Given the description of an element on the screen output the (x, y) to click on. 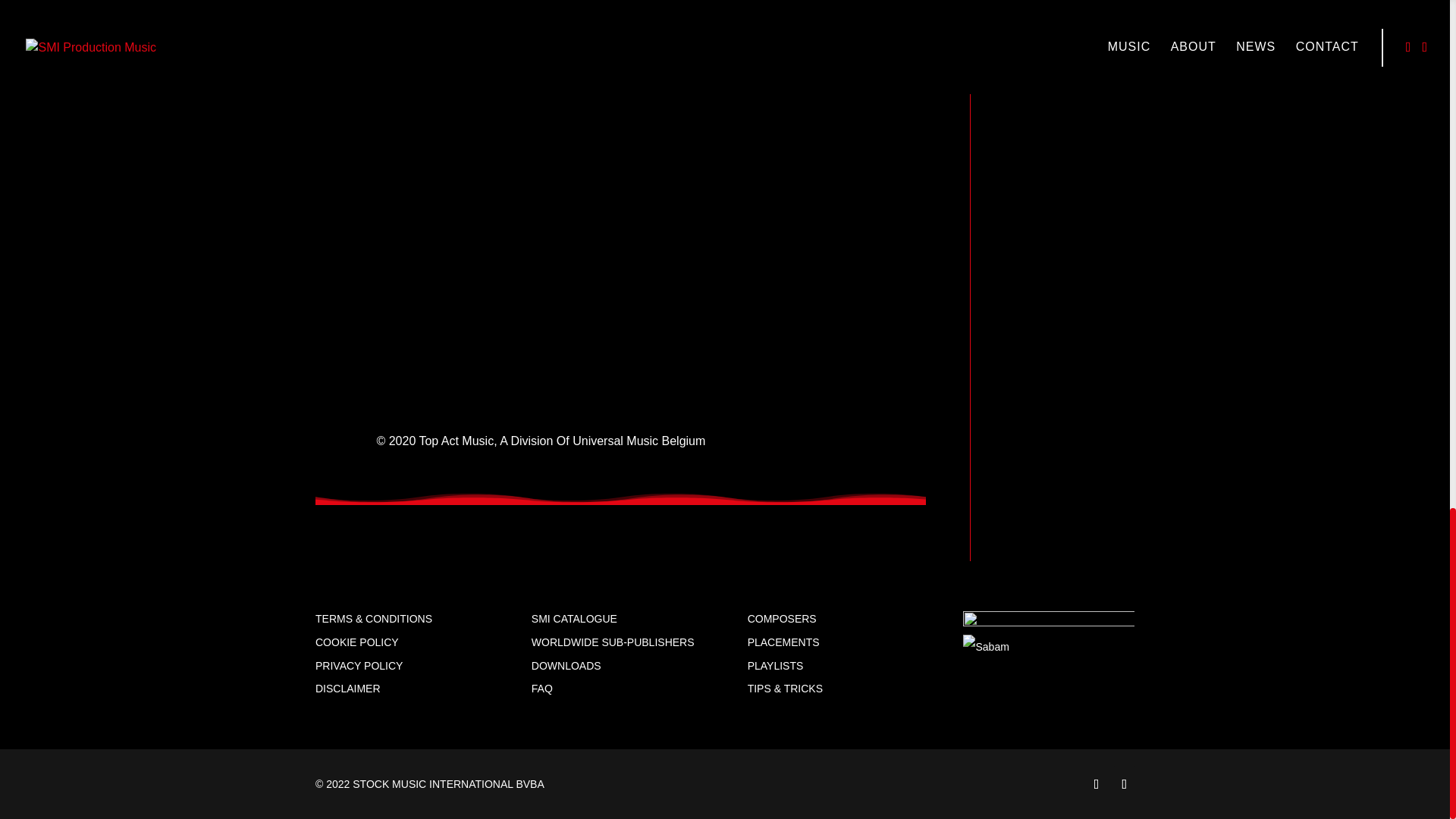
PLACEMENTS (783, 642)
DISCLAIMER (347, 688)
FAQ (542, 688)
WORLDWIDE SUB-PUBLISHERS (612, 642)
PRIVACY POLICY (359, 665)
COOKIE POLICY (356, 642)
DOWNLOADS (566, 665)
PLAYLISTS (775, 665)
COMPOSERS (782, 618)
SMI CATALOGUE (574, 618)
